Given the description of an element on the screen output the (x, y) to click on. 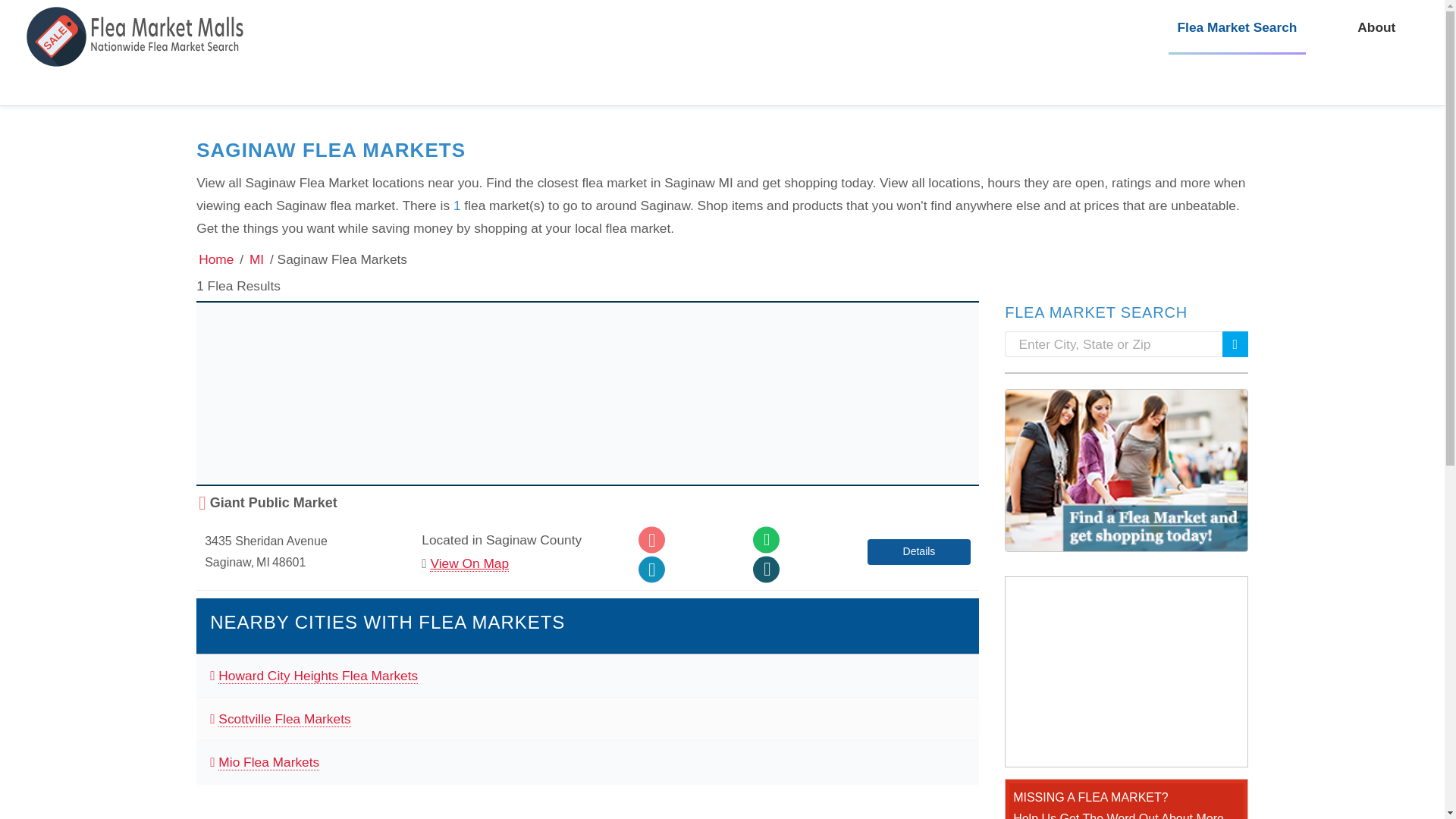
Flea Markets (215, 259)
flea market (137, 46)
Flea Markets in MI (256, 259)
Advertisement (1126, 671)
flea markets (137, 36)
Flea Market Search (1236, 27)
